Given the description of an element on the screen output the (x, y) to click on. 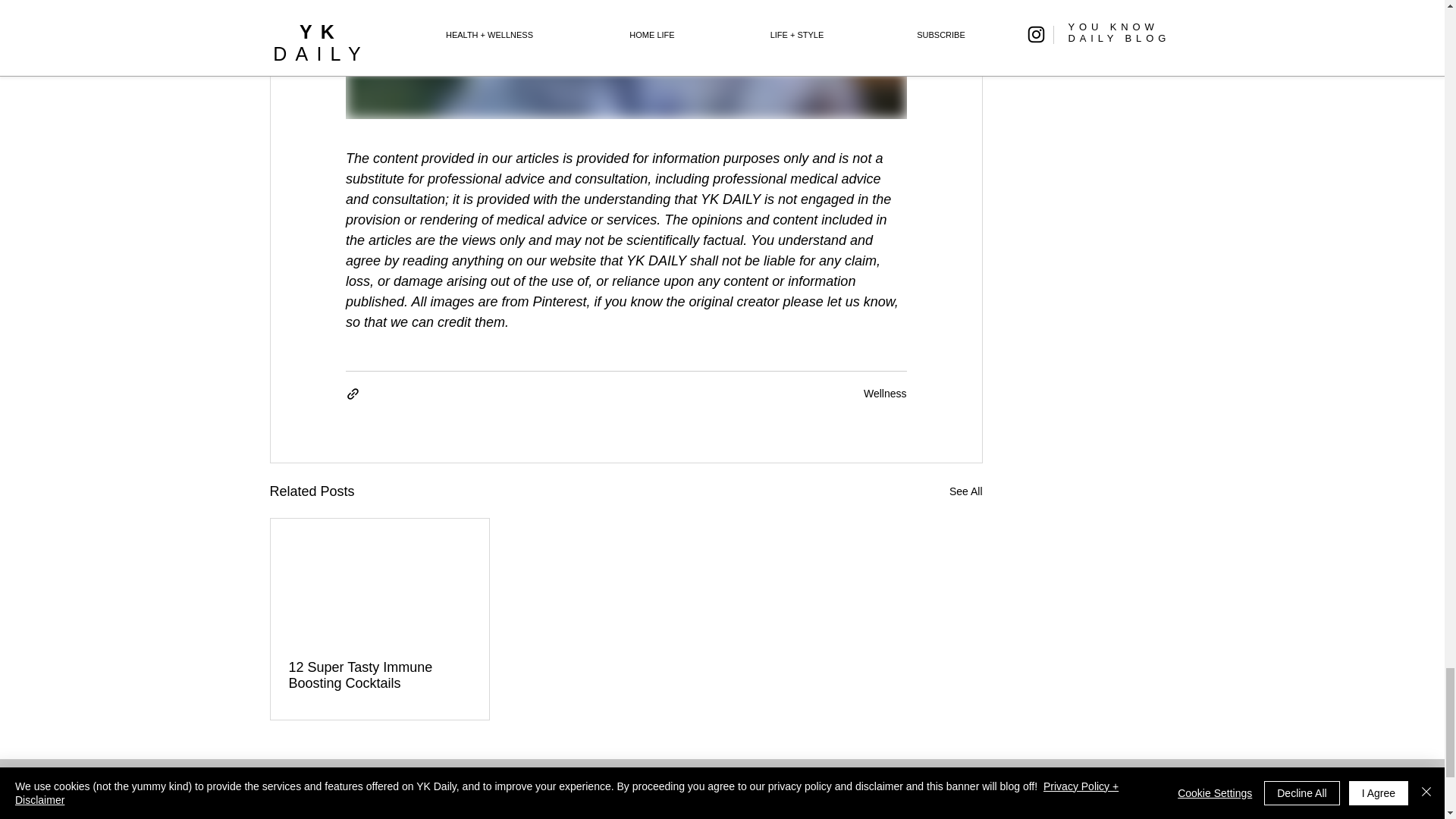
Wellness (885, 393)
See All (965, 491)
YOU KNOW  (685, 795)
12 Super Tasty Immune Boosting Cocktails (379, 675)
